Given the description of an element on the screen output the (x, y) to click on. 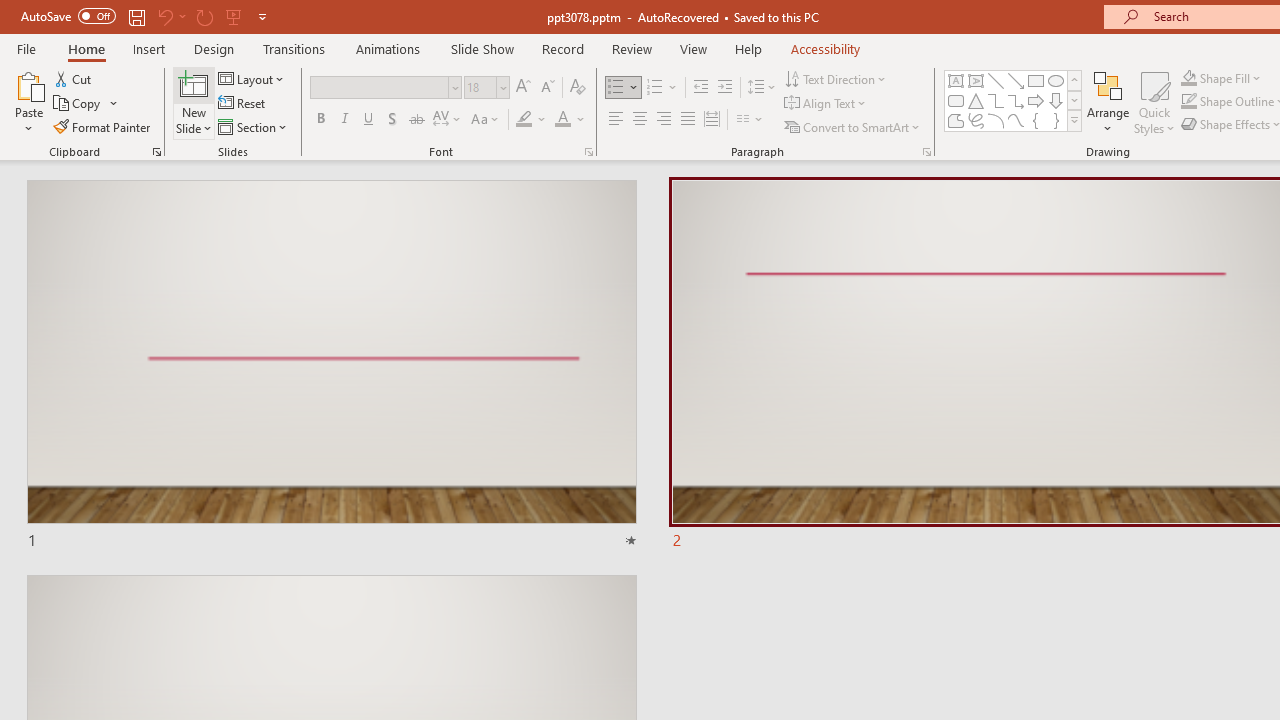
Increase Indent (725, 87)
Underline (369, 119)
Align Right (663, 119)
Connector: Elbow (995, 100)
Layout (252, 78)
Bold (320, 119)
Oval (1055, 80)
Font... (588, 151)
Justify (687, 119)
Curve (1016, 120)
